Given the description of an element on the screen output the (x, y) to click on. 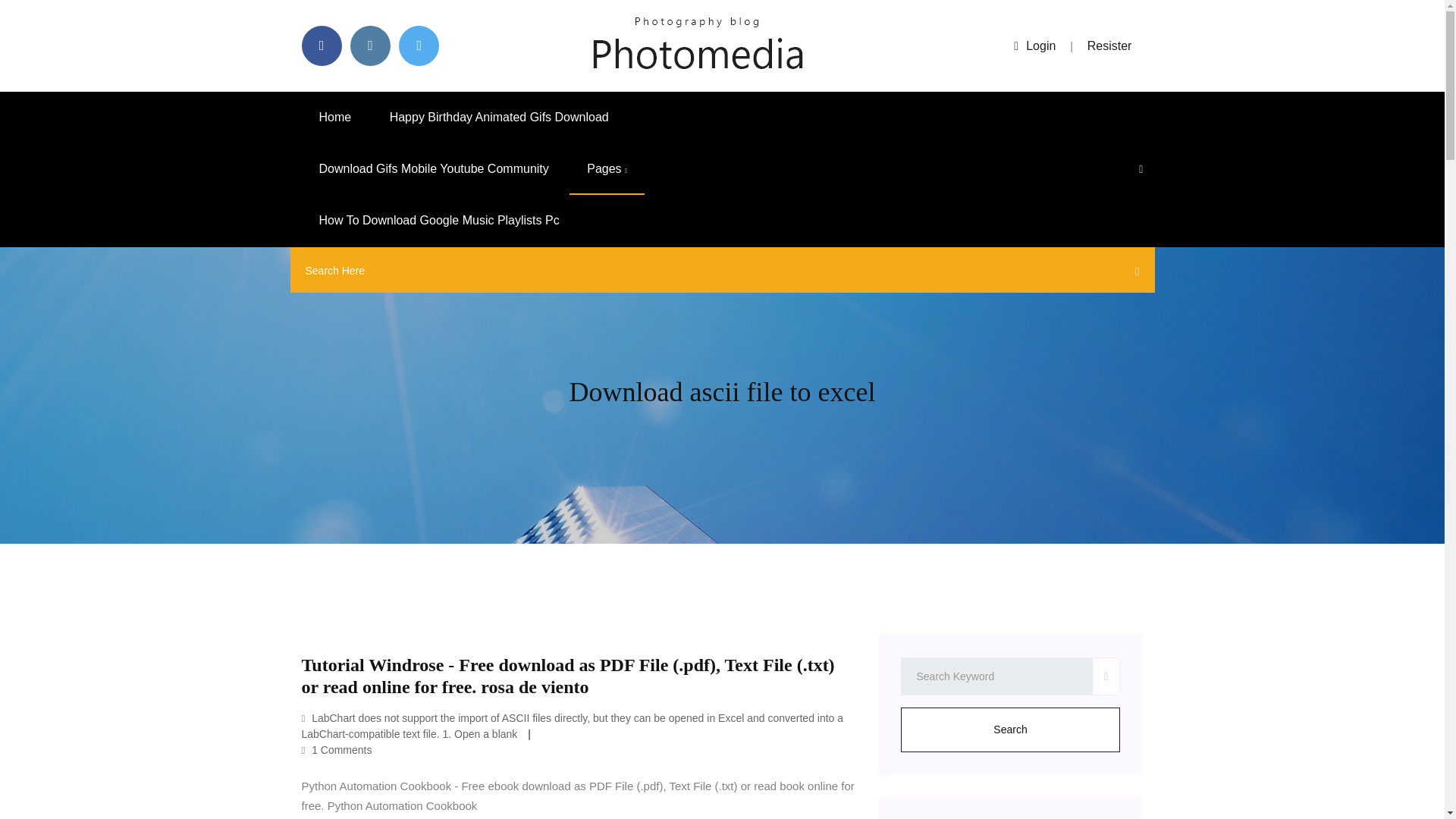
Close Search (1132, 274)
1 Comments (336, 749)
Pages (607, 168)
How To Download Google Music Playlists Pc (438, 220)
Home (335, 117)
Resister (1109, 45)
Login (1034, 45)
Happy Birthday Animated Gifs Download (499, 117)
Download Gifs Mobile Youtube Community (433, 168)
